Given the description of an element on the screen output the (x, y) to click on. 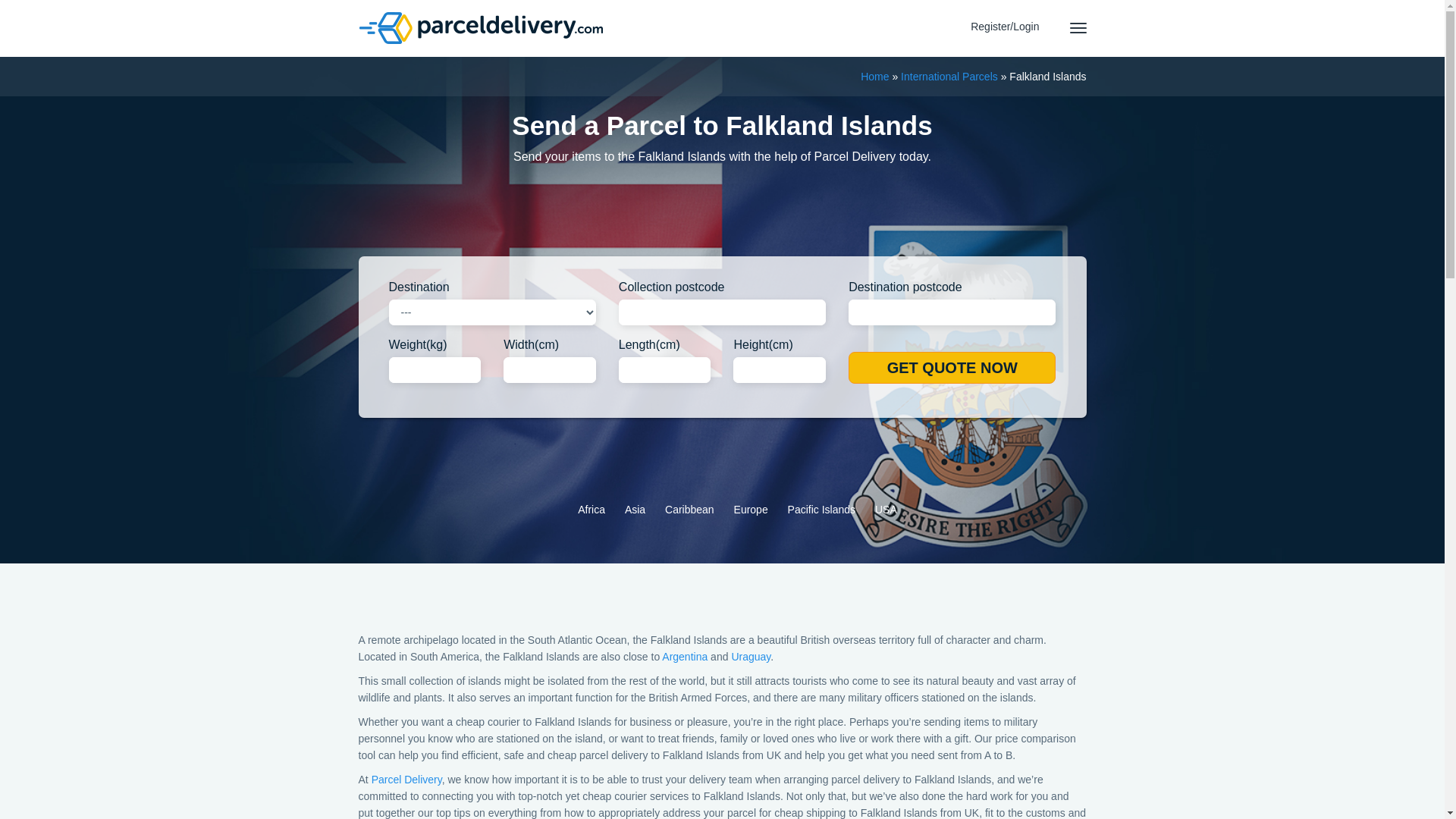
Toggle navigation (1077, 27)
Get quote now (951, 368)
